Given the description of an element on the screen output the (x, y) to click on. 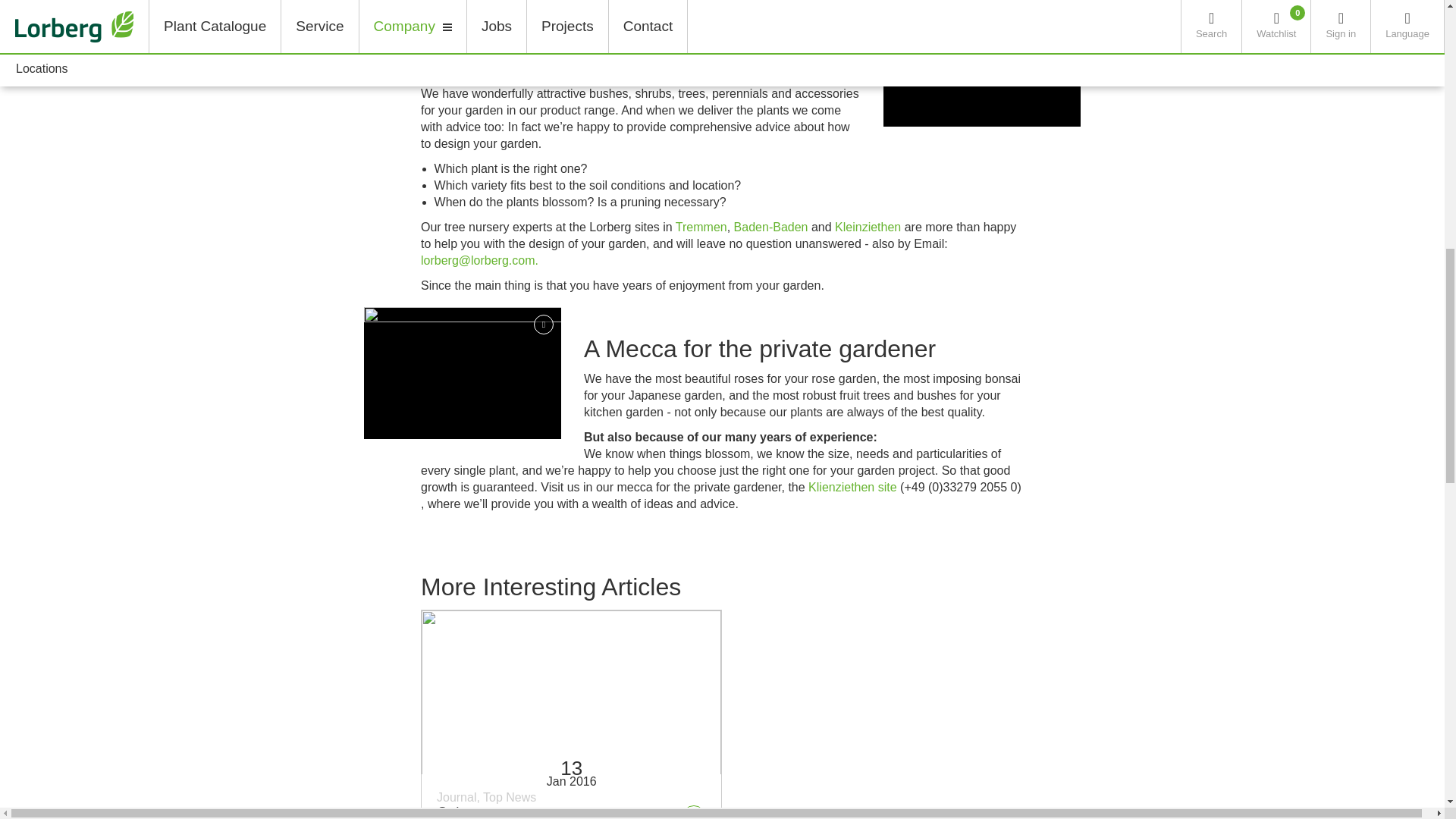
Kleinziethen (867, 226)
Baden-Baden (770, 226)
Tremmen (700, 226)
